Given the description of an element on the screen output the (x, y) to click on. 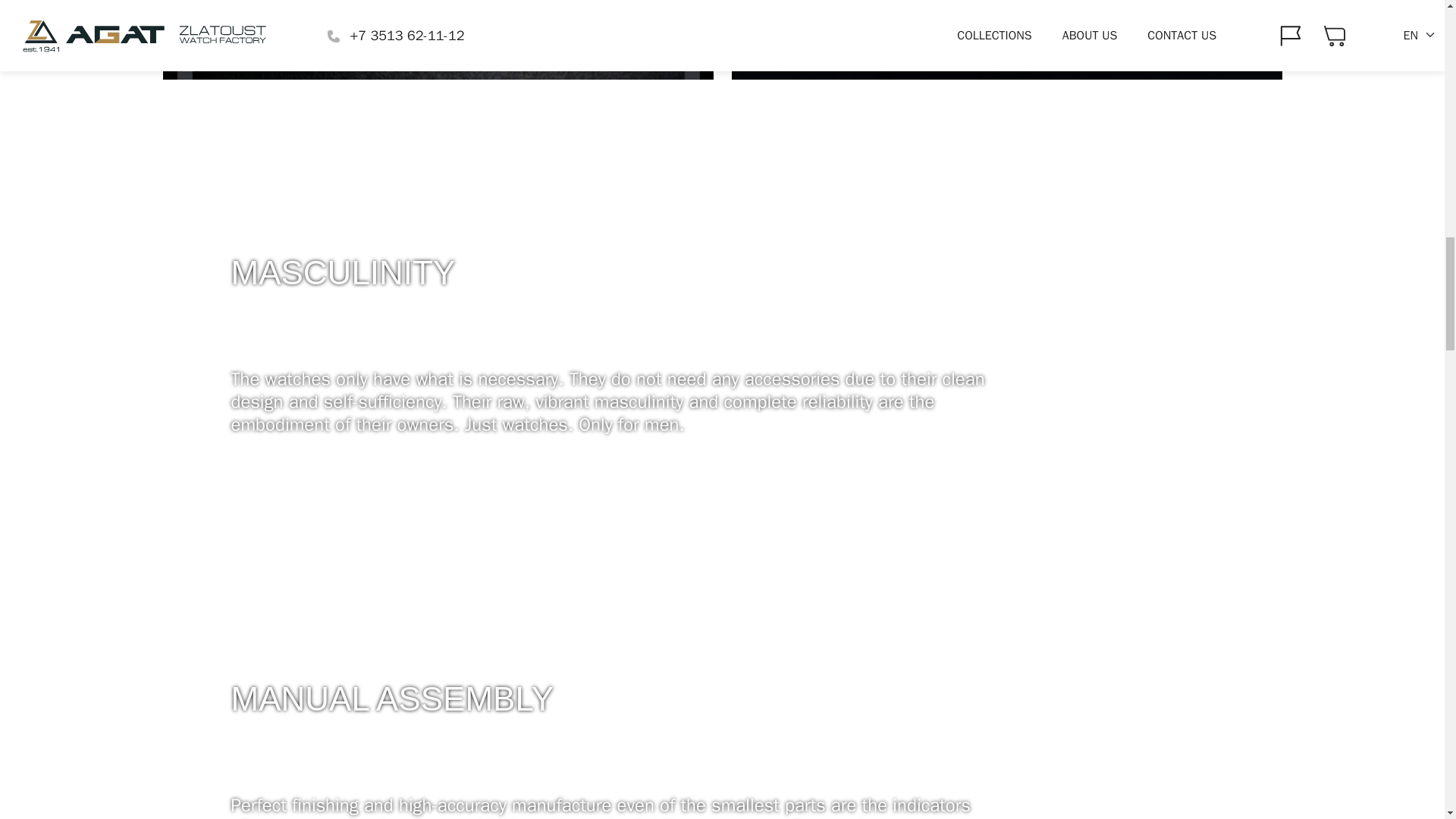
WATCH STRAPS (437, 39)
STOPWATCHES (1005, 39)
